Given the description of an element on the screen output the (x, y) to click on. 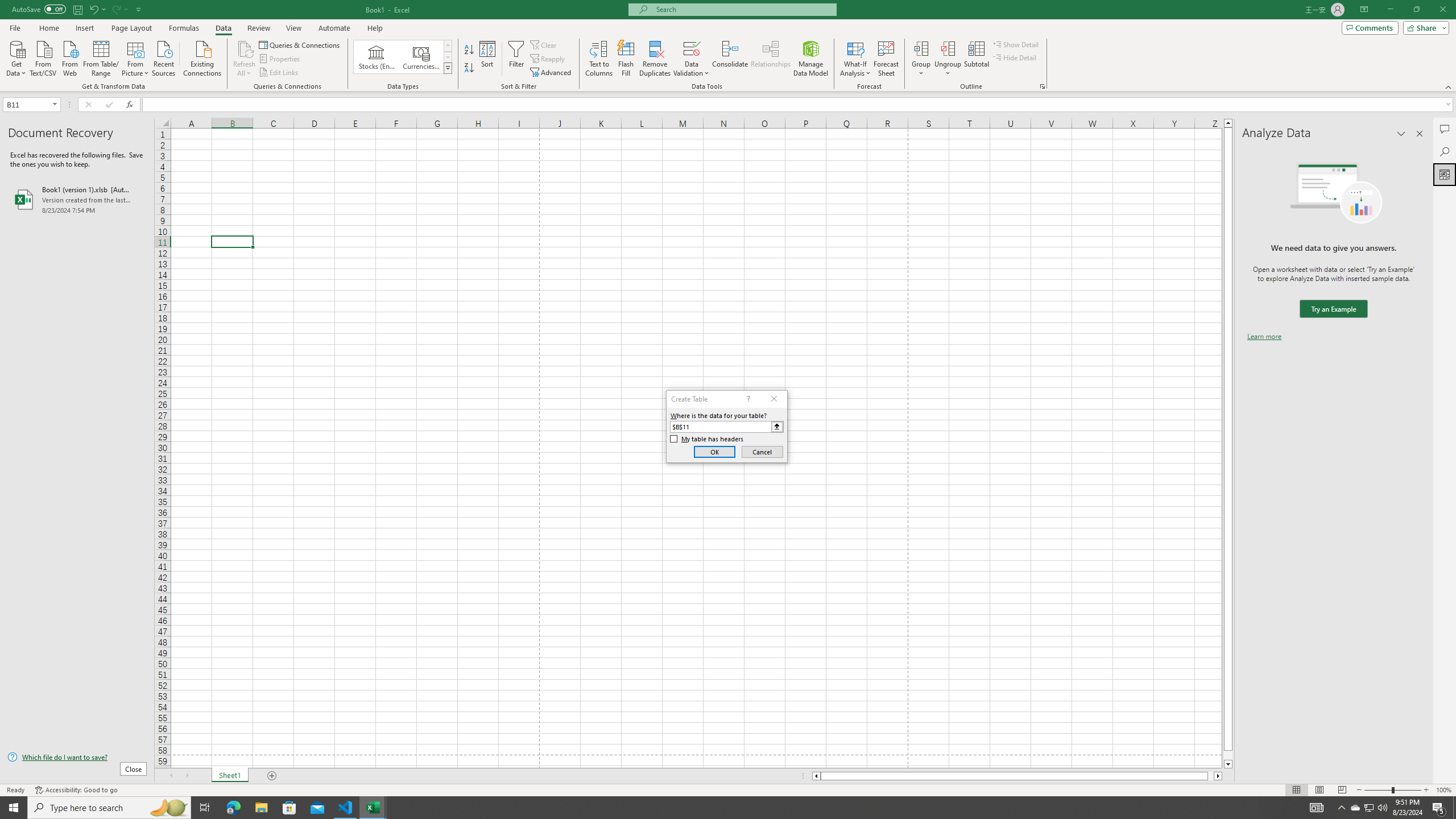
Reapply (548, 58)
Get Data (16, 57)
Group and Outline Settings (1042, 85)
From Web (69, 57)
Filter (515, 58)
Learn more (1264, 336)
What-If Analysis (855, 58)
